Given the description of an element on the screen output the (x, y) to click on. 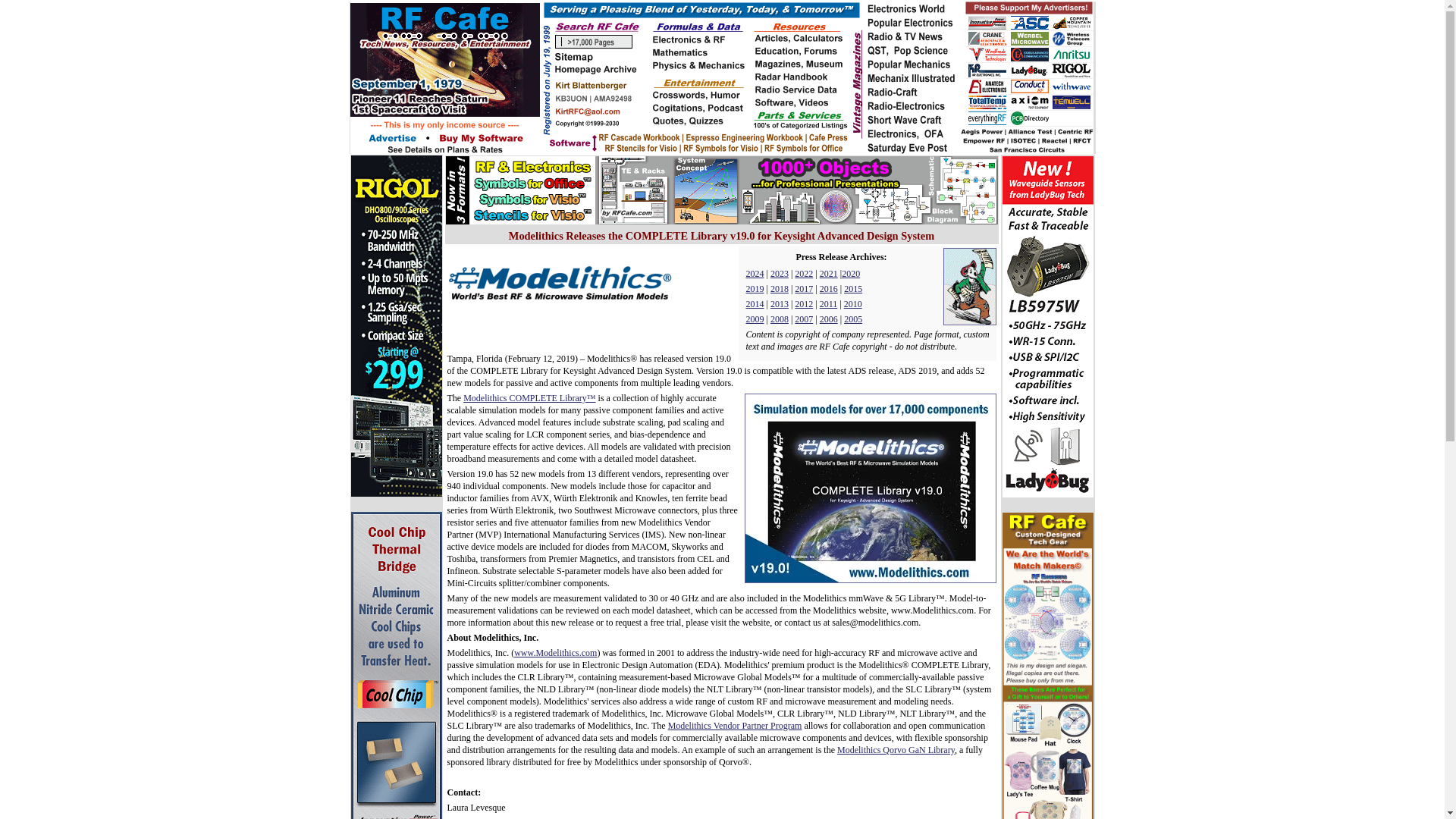
2006 (828, 318)
2020 (850, 273)
www.Modelithics.com (554, 652)
2005 (852, 318)
2022 (803, 273)
2007 (803, 318)
2023 (779, 273)
Modelithics Qorvo GaN Library (896, 749)
Modelithics Vendor Partner Program (735, 725)
2024 (754, 273)
